Given the description of an element on the screen output the (x, y) to click on. 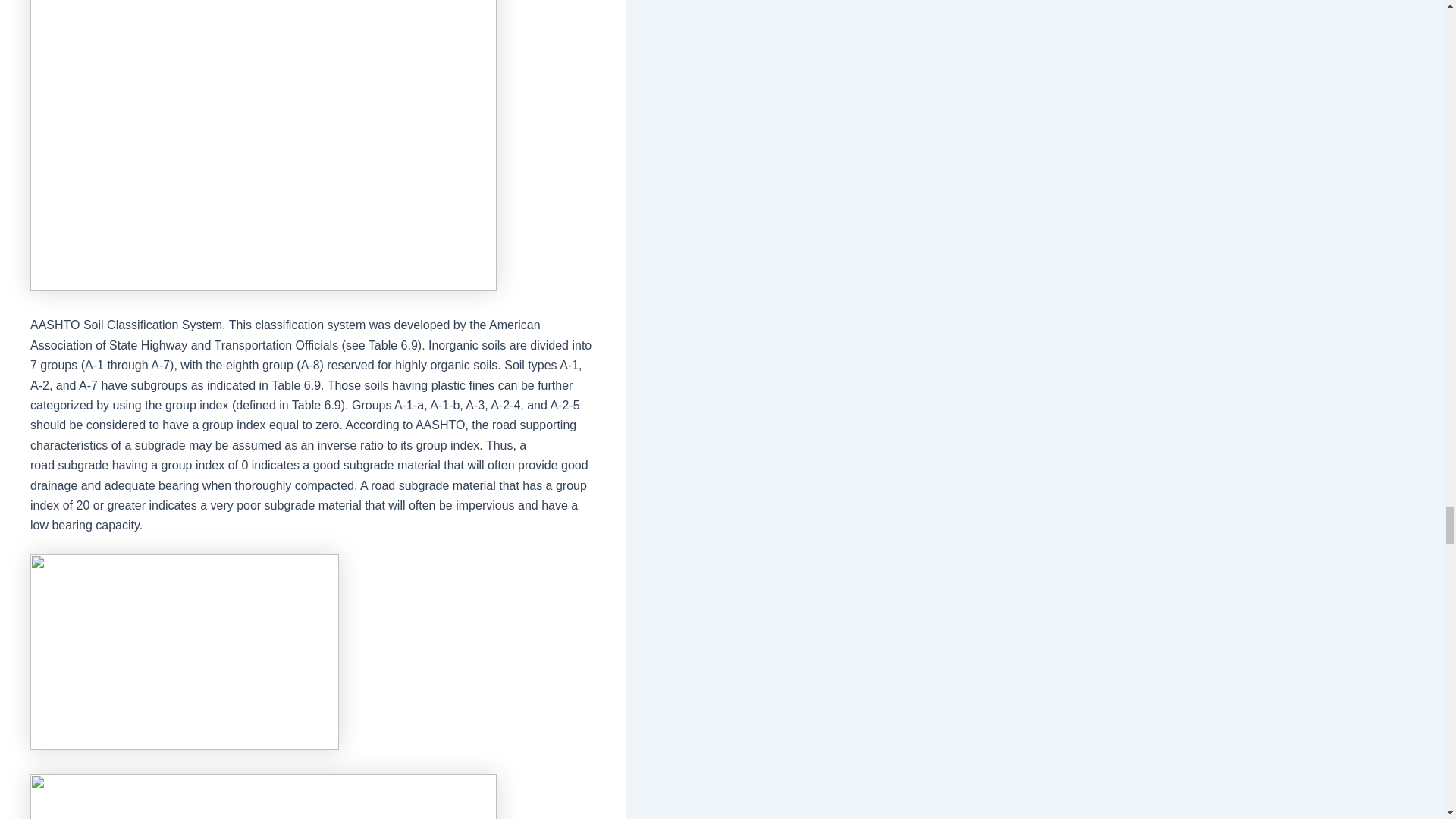
FIGURE 6.9 Plasticity chart (184, 652)
TABLE 6.9 AASHTO Soil Classification System (263, 796)
